Given the description of an element on the screen output the (x, y) to click on. 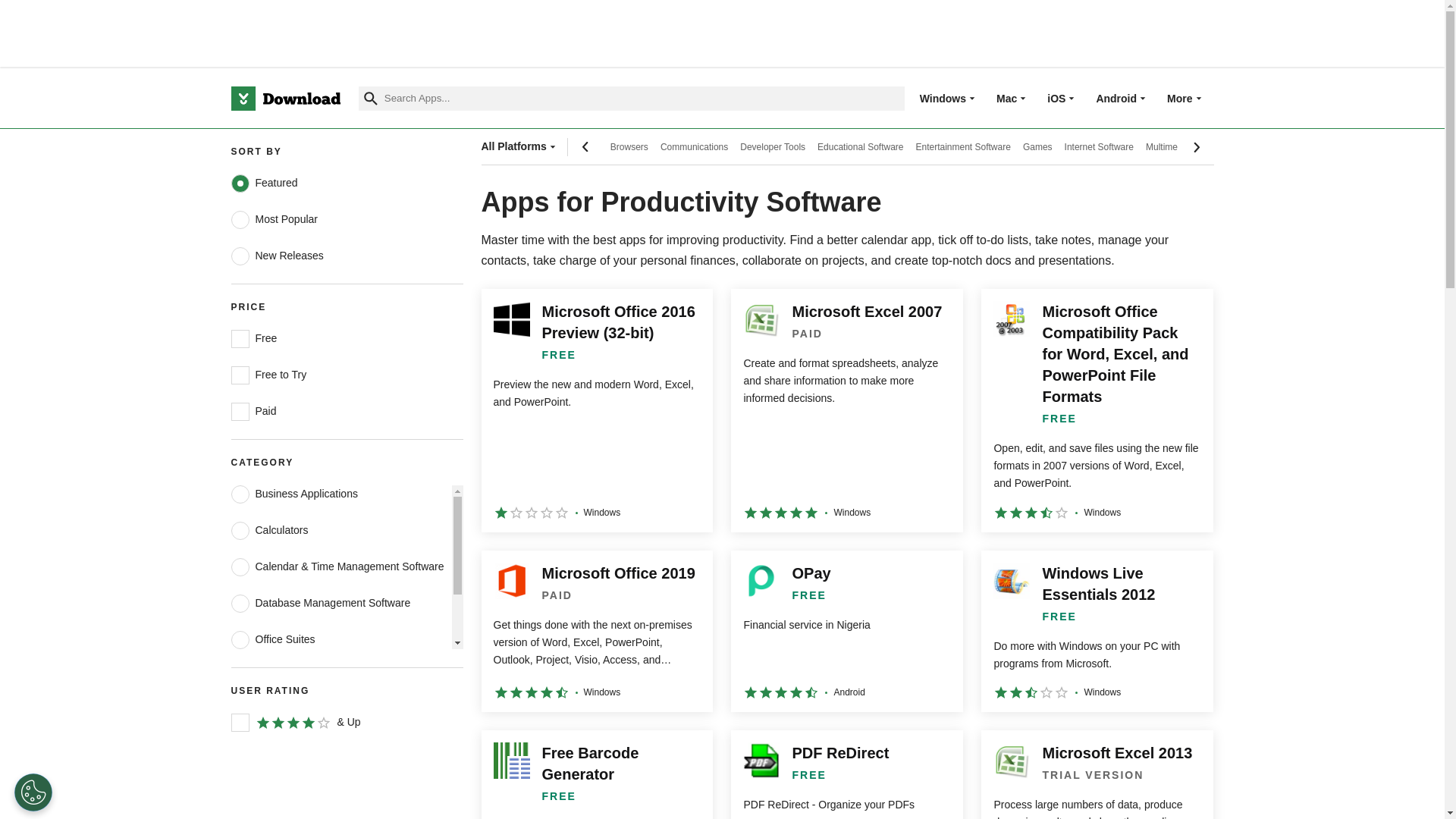
mostPopular (239, 219)
newReleases (239, 256)
free (239, 339)
Windows (943, 97)
4up (239, 722)
paid (239, 411)
business-databases (239, 603)
freeToTry (239, 375)
Microsoft Excel 2013 (1096, 774)
Windows Live Essentials 2012 (1096, 630)
PDF ReDirect (846, 774)
Microsoft Excel 2007 (846, 410)
Mac (1005, 97)
business-office-suites (239, 639)
